Given the description of an element on the screen output the (x, y) to click on. 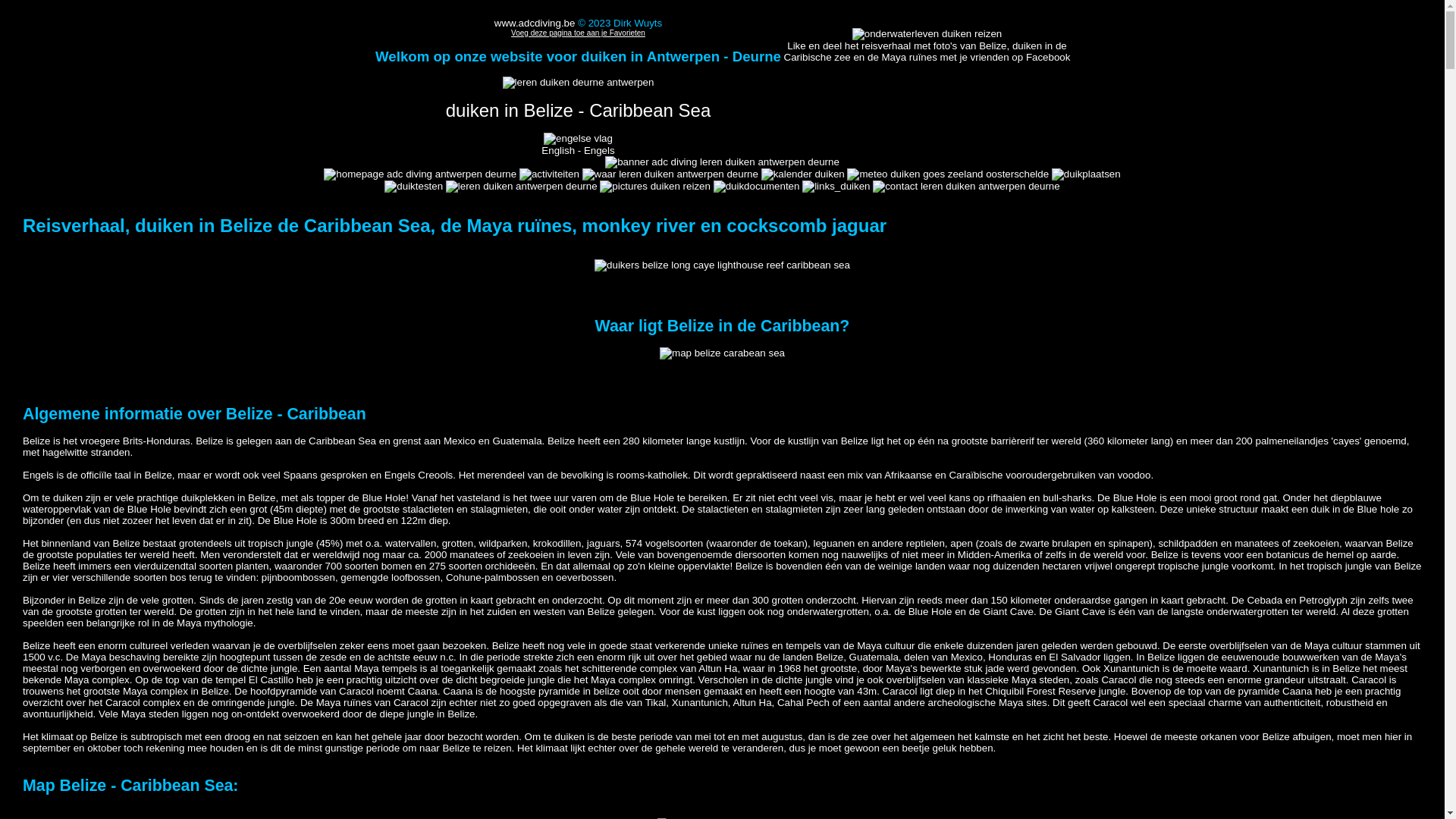
www.adcdiving.be Element type: text (534, 22)
Voeg deze pagina toe aan je Favorieten Element type: text (578, 32)
English - Engels Element type: text (577, 144)
